Given the description of an element on the screen output the (x, y) to click on. 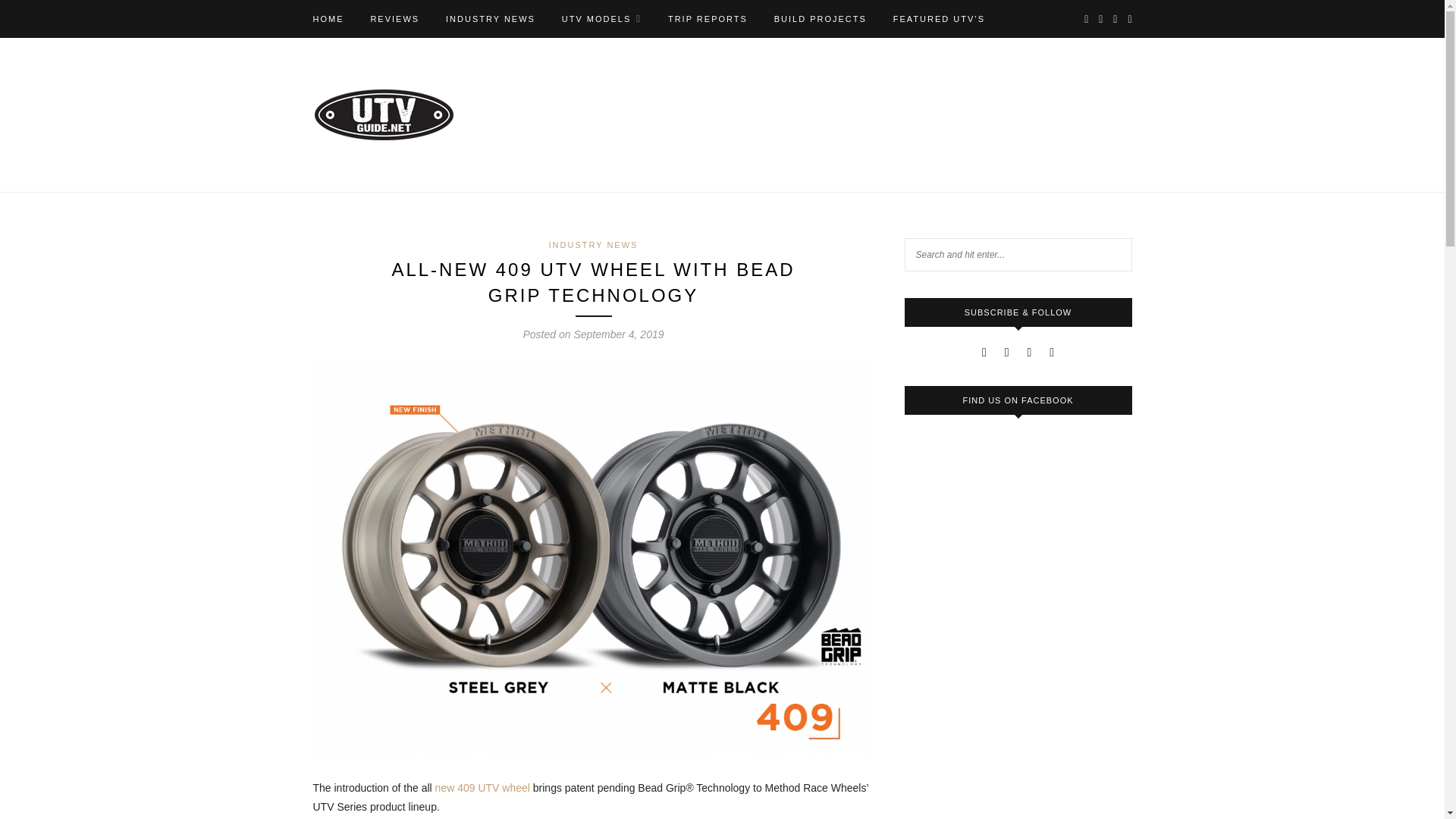
YouTube video player (1017, 787)
INDUSTRY NEWS (490, 18)
UTV MODELS (602, 18)
TRIP REPORTS (708, 18)
YouTube video player (1017, 662)
REVIEWS (394, 18)
INDUSTRY NEWS (593, 244)
new 409 UTV wheel (482, 787)
BUILD PROJECTS (820, 18)
